Given the description of an element on the screen output the (x, y) to click on. 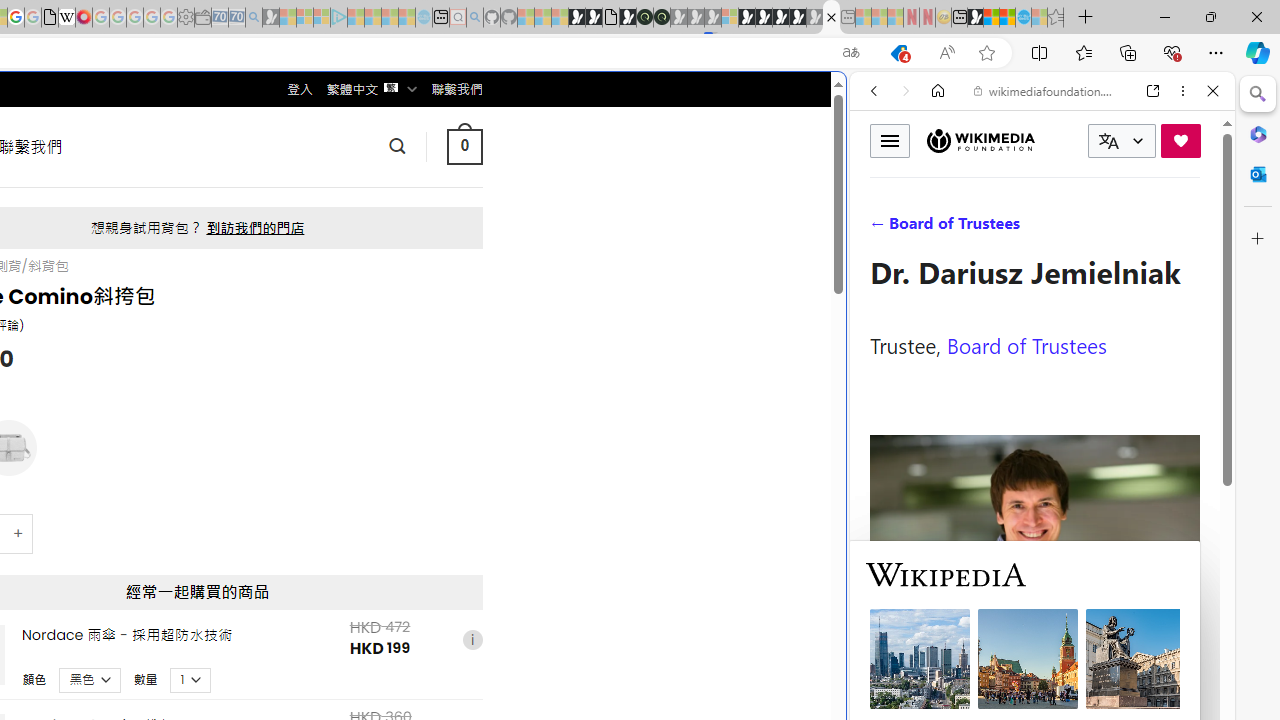
Class: upsell-v2-product-upsell-variable-product-qty-select (191, 679)
